Given the description of an element on the screen output the (x, y) to click on. 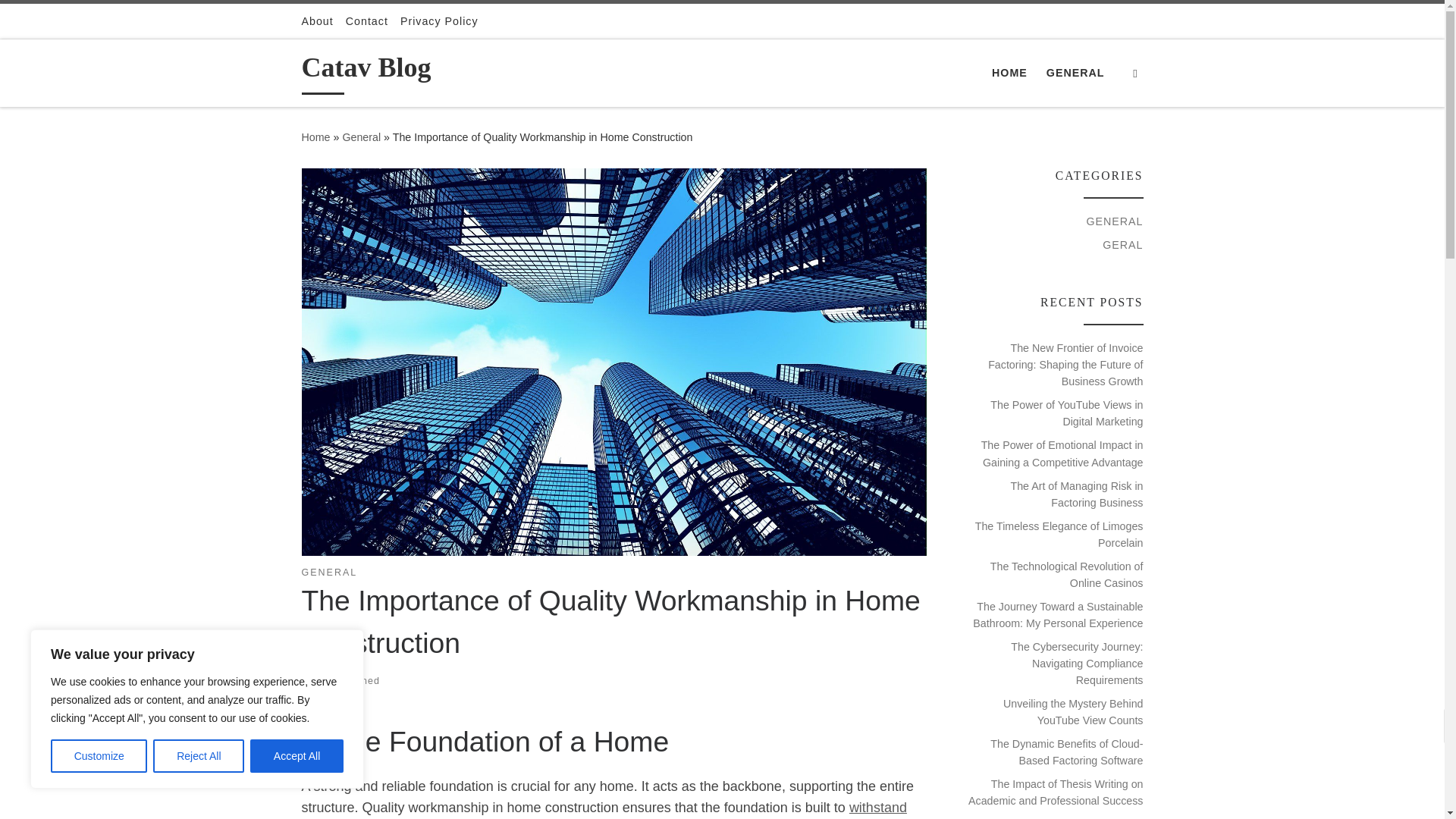
View all posts in General (329, 572)
withstand (877, 807)
HOME (1009, 72)
Catav Blog (315, 137)
Home (315, 137)
Privacy Policy (439, 21)
About (317, 21)
Skip to content (60, 20)
Contact (366, 21)
GENERAL (1075, 72)
General (361, 137)
General (361, 137)
Accept All (296, 756)
Customize (98, 756)
Reject All (198, 756)
